Given the description of an element on the screen output the (x, y) to click on. 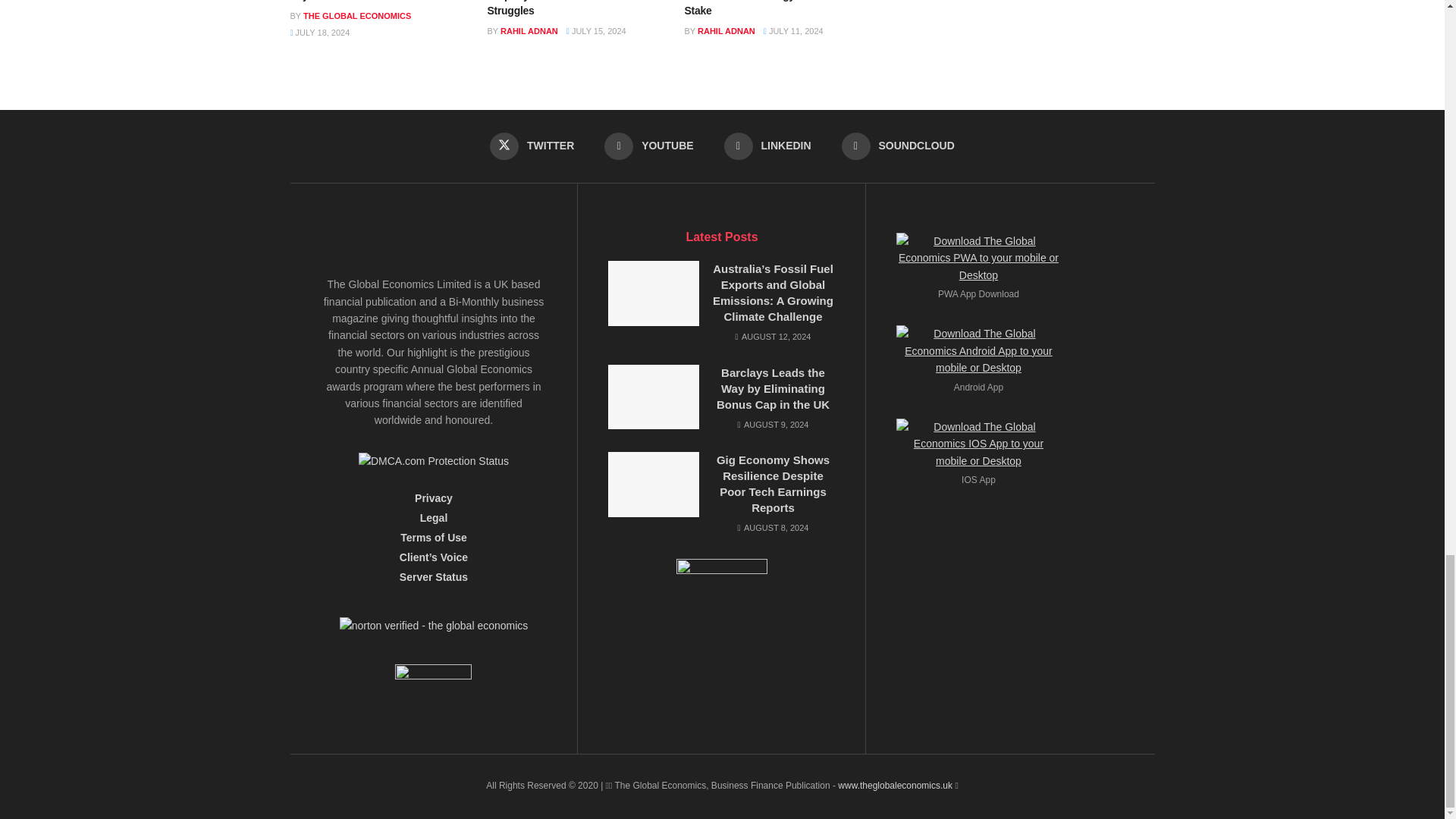
The Global Economics UK (895, 785)
Norton Verified (433, 630)
DMCA.com Protection Status (433, 460)
